Given the description of an element on the screen output the (x, y) to click on. 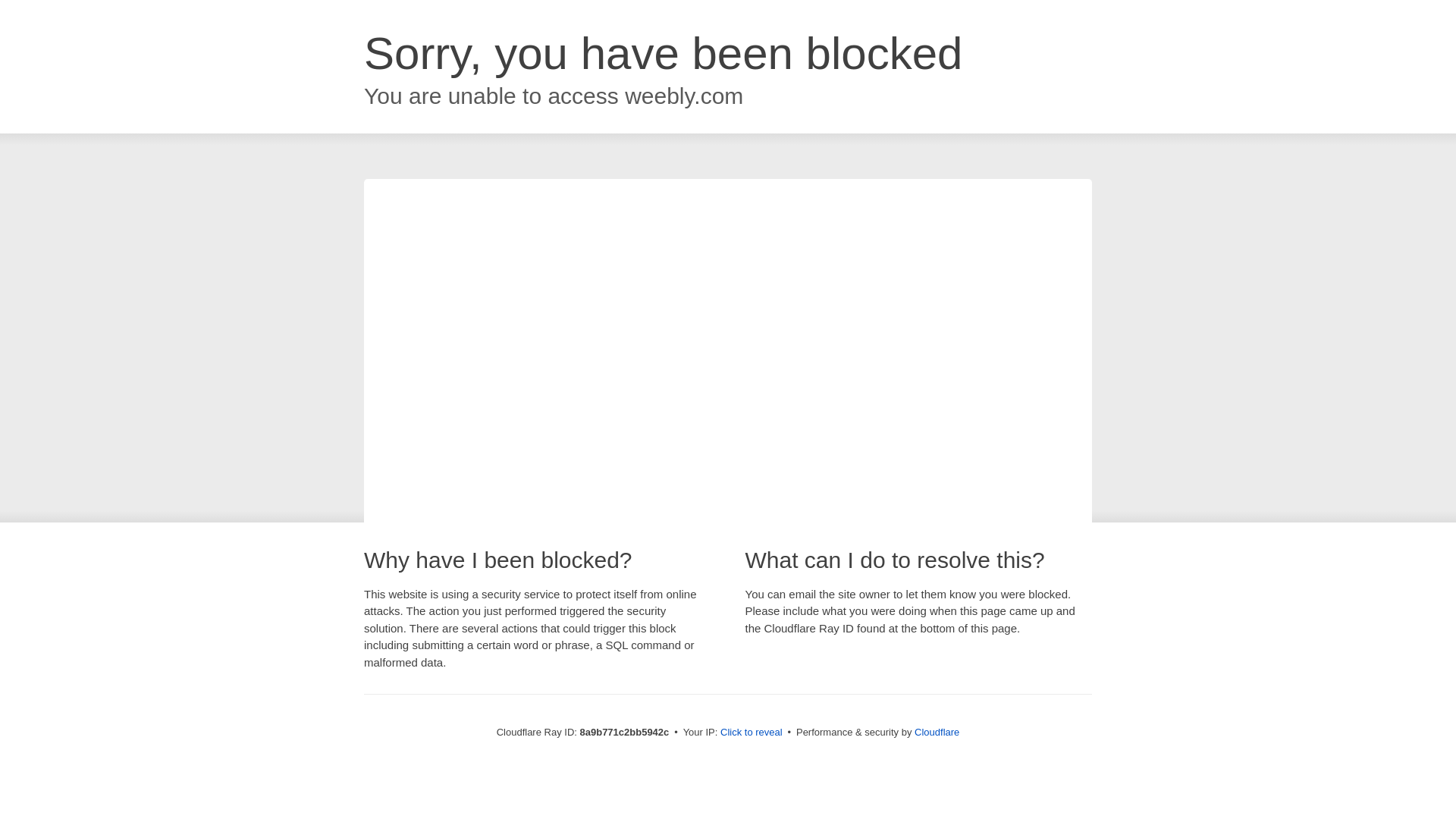
Click to reveal (751, 732)
Cloudflare (936, 731)
